Given the description of an element on the screen output the (x, y) to click on. 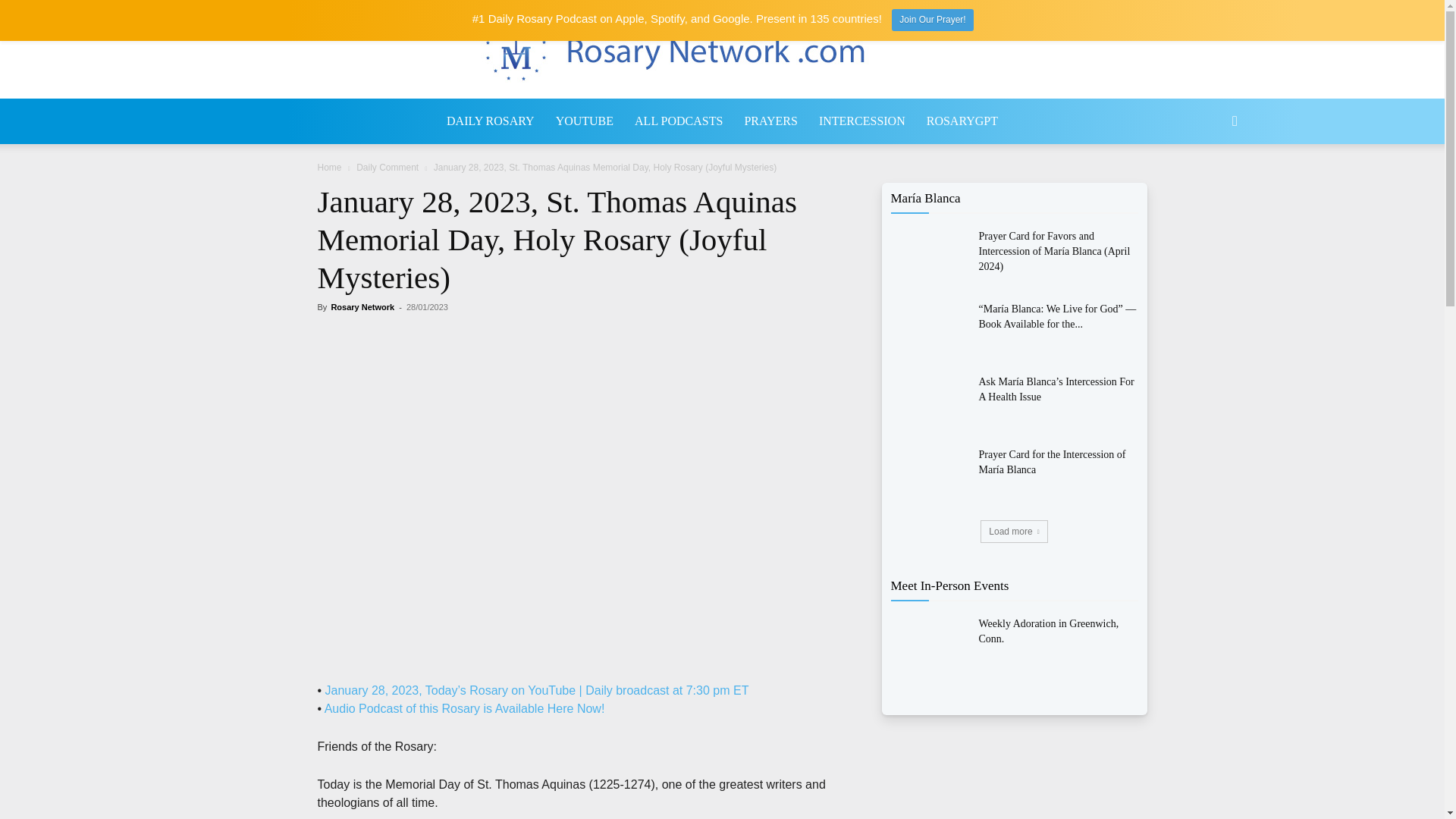
Daily Rosary from New York (722, 49)
ALL PODCASTS (678, 121)
ROSARYGPT (962, 121)
Search (1210, 186)
INTERCESSION (861, 121)
Rosary Network (362, 307)
RosaryNetwork.com (721, 49)
PRAYERS (770, 121)
Home (328, 167)
YOUTUBE (584, 121)
